Given the description of an element on the screen output the (x, y) to click on. 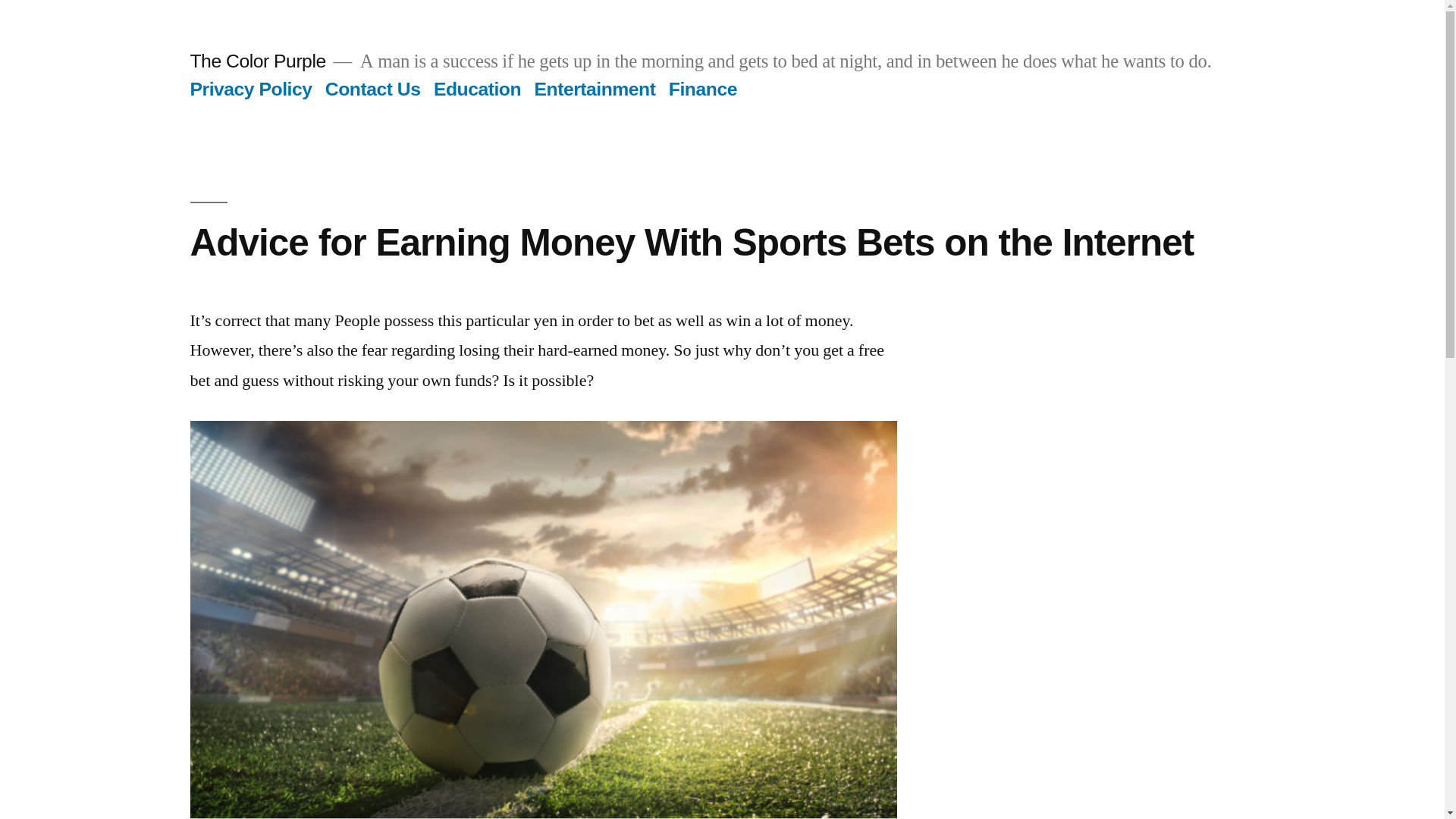
Contact Us (372, 88)
Finance (702, 88)
Education (477, 88)
The Color Purple (256, 60)
Entertainment (594, 88)
Privacy Policy (250, 88)
